Given the description of an element on the screen output the (x, y) to click on. 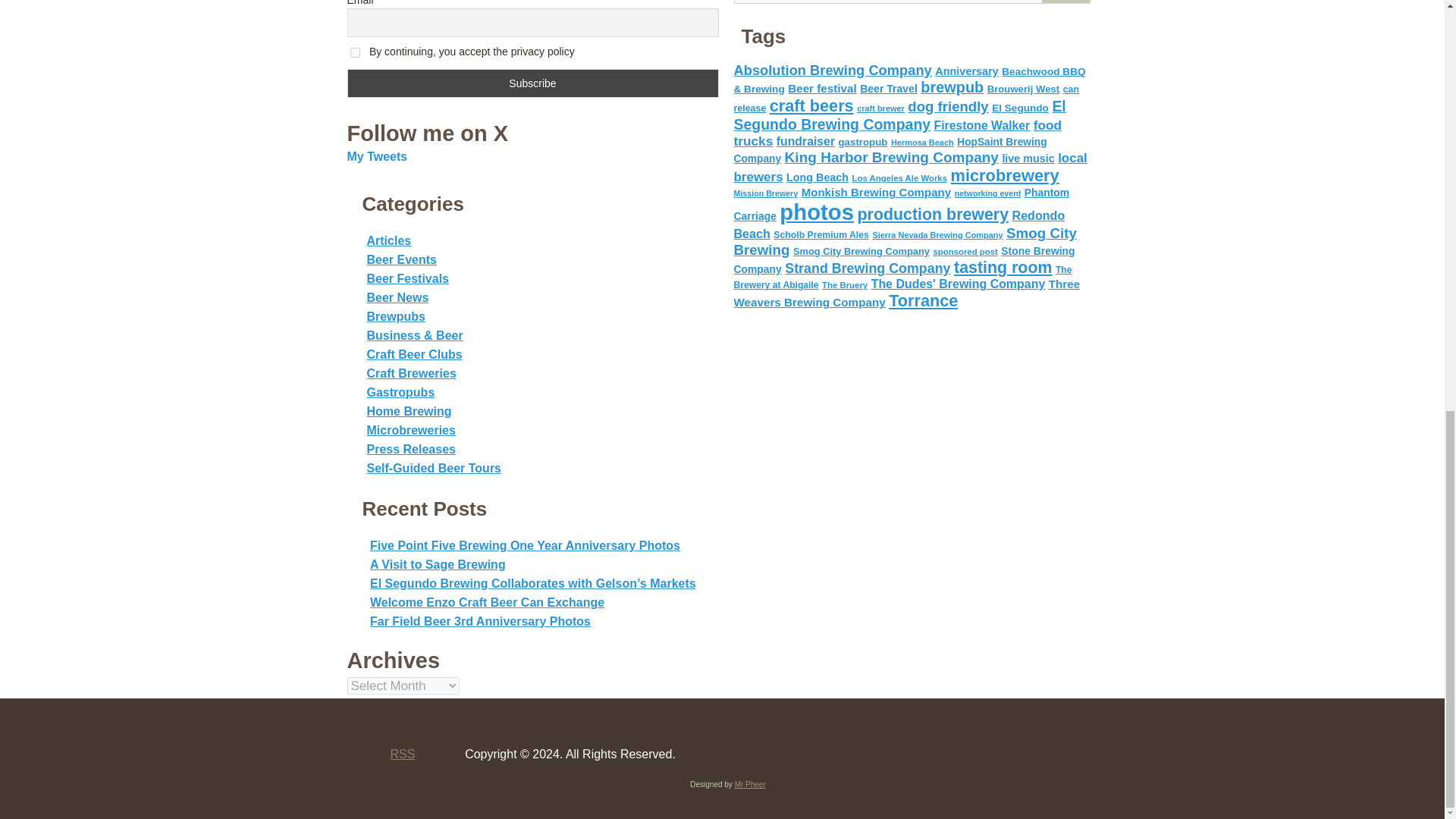
on (354, 52)
Subscribe (533, 82)
Search (1065, 1)
Search (1065, 1)
